Given the description of an element on the screen output the (x, y) to click on. 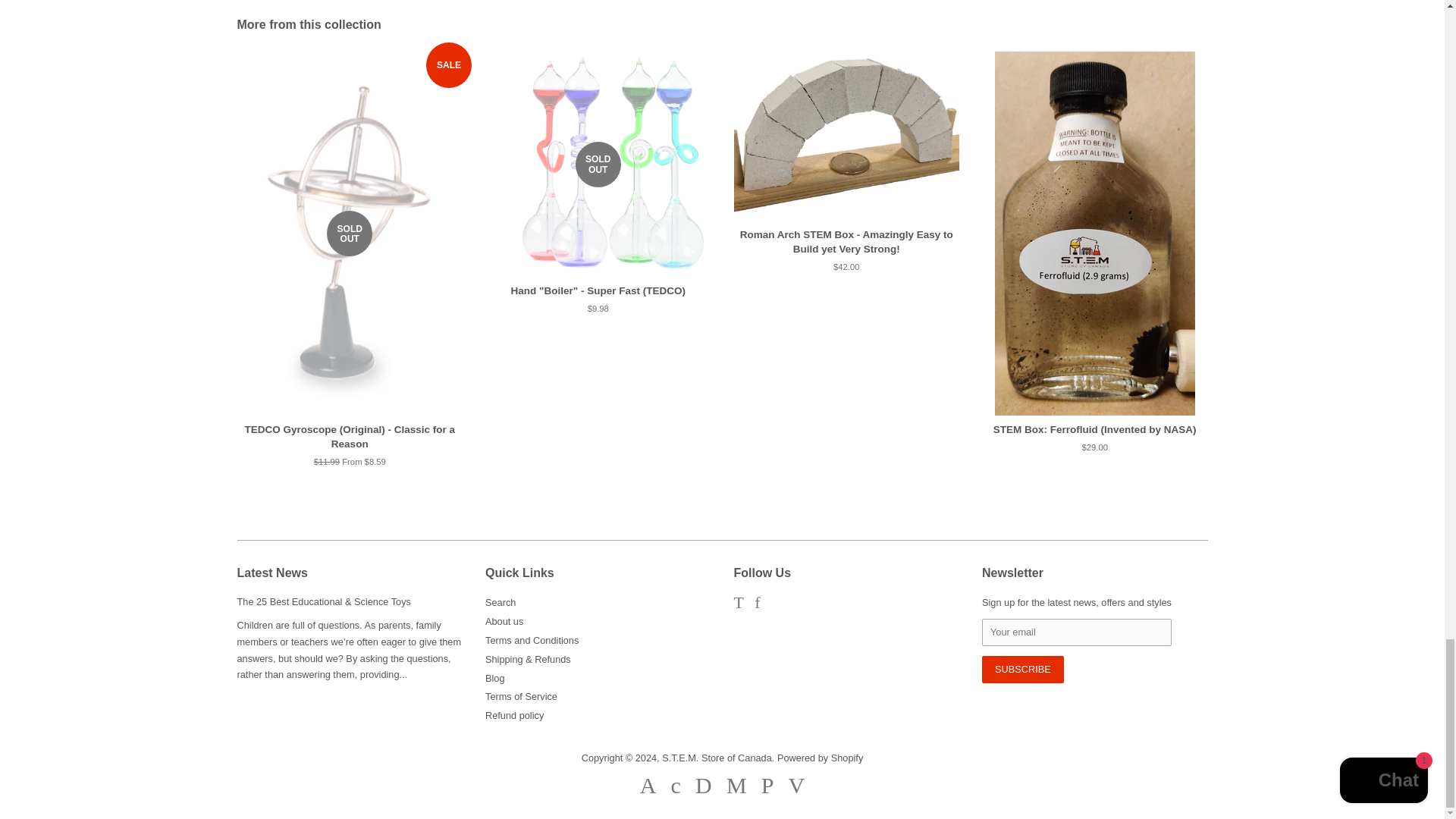
Subscribe (1022, 669)
